Given the description of an element on the screen output the (x, y) to click on. 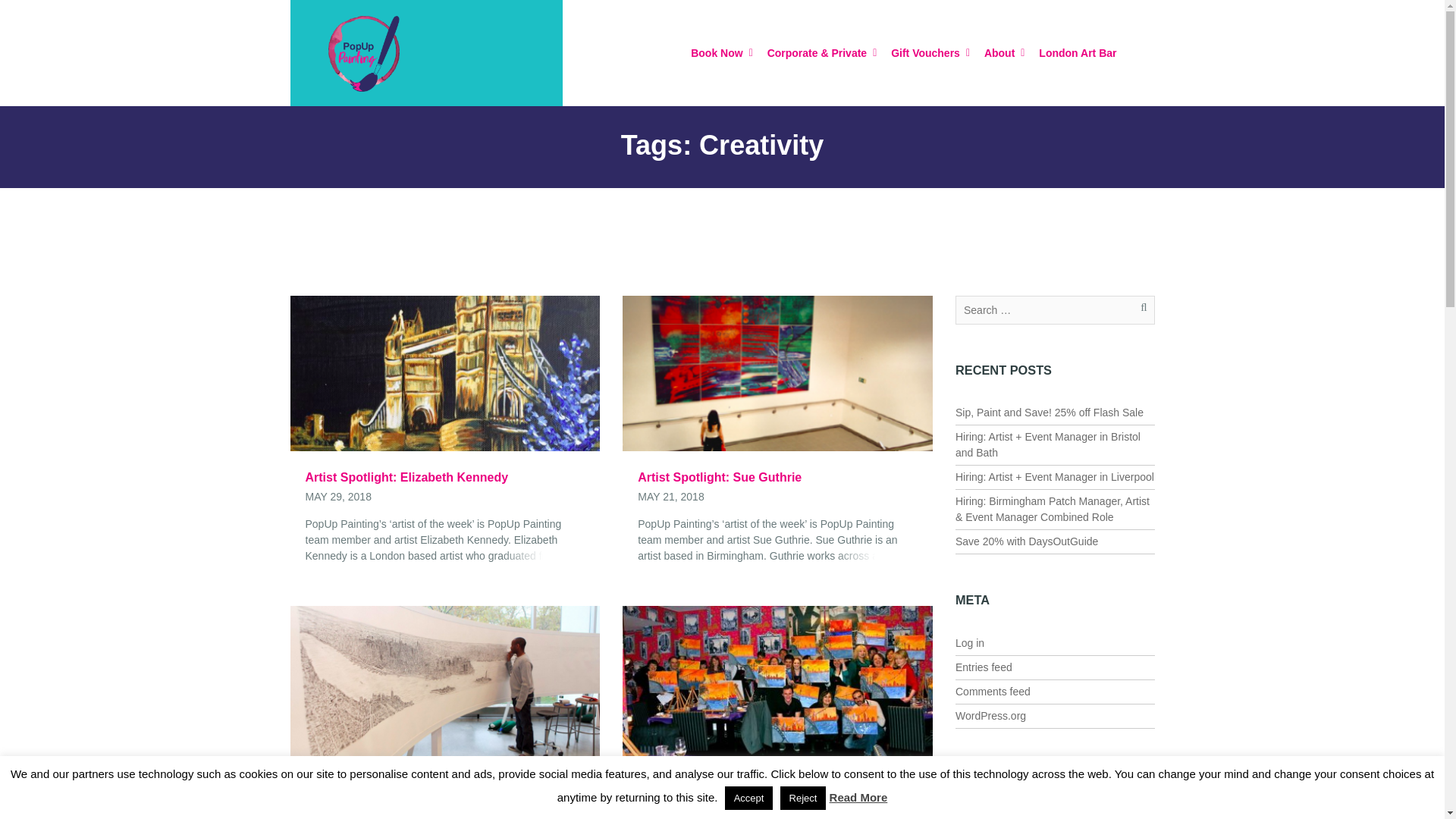
Artist Spotlight: Elizabeth Kennedy (444, 478)
Autism Awareness Month: Featured Artist (444, 788)
Artist Spotlight: Sue Guthrie (778, 372)
Autism Awareness Month: Featured Artist (444, 682)
London Art Bar (1077, 52)
Book Now (720, 52)
Artist Spotlight: Sue Guthrie (777, 478)
Artist Spotlight: Elizabeth Kennedy (444, 372)
Artist Spotlight: Sue Guthrie (777, 478)
About (1003, 52)
Autism Awareness Month: Featured Artist (444, 788)
Artist Spotlight: Elizabeth Kennedy (444, 478)
Gift Vouchers (929, 52)
